Given the description of an element on the screen output the (x, y) to click on. 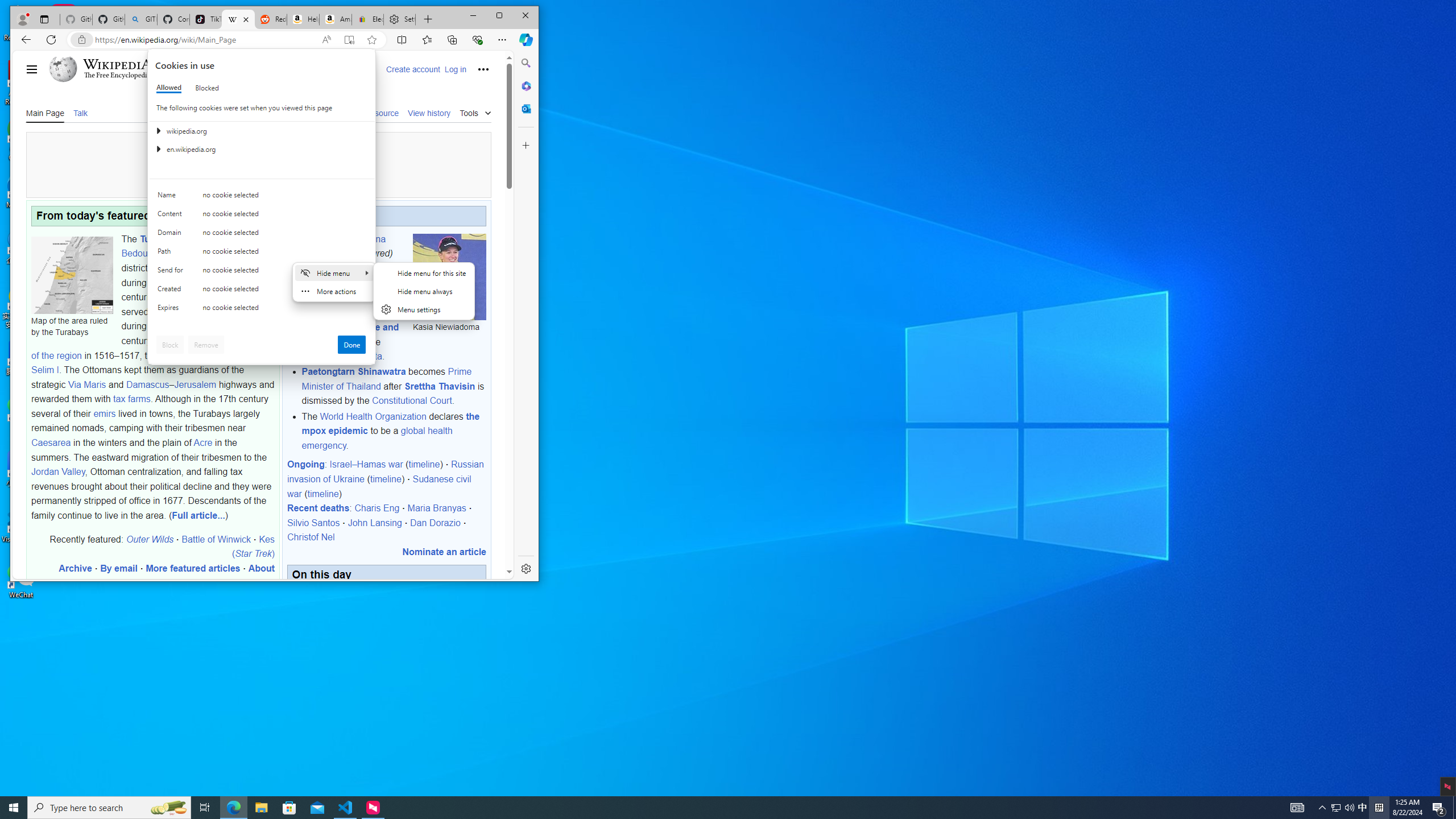
Done (351, 344)
Path (172, 253)
Menu settings (424, 309)
Mini menu on text selection (334, 289)
Hide menu always (424, 290)
Running applications (707, 807)
Expires (172, 310)
Hide menu (424, 290)
Class: c0153 c0157 c0154 (261, 197)
Visual Studio Code - 1 running window (345, 807)
Hide menu (423, 298)
File Explorer (261, 807)
User Promoted Notification Area (1342, 807)
Type here to search (108, 807)
Microsoft Store (289, 807)
